Given the description of an element on the screen output the (x, y) to click on. 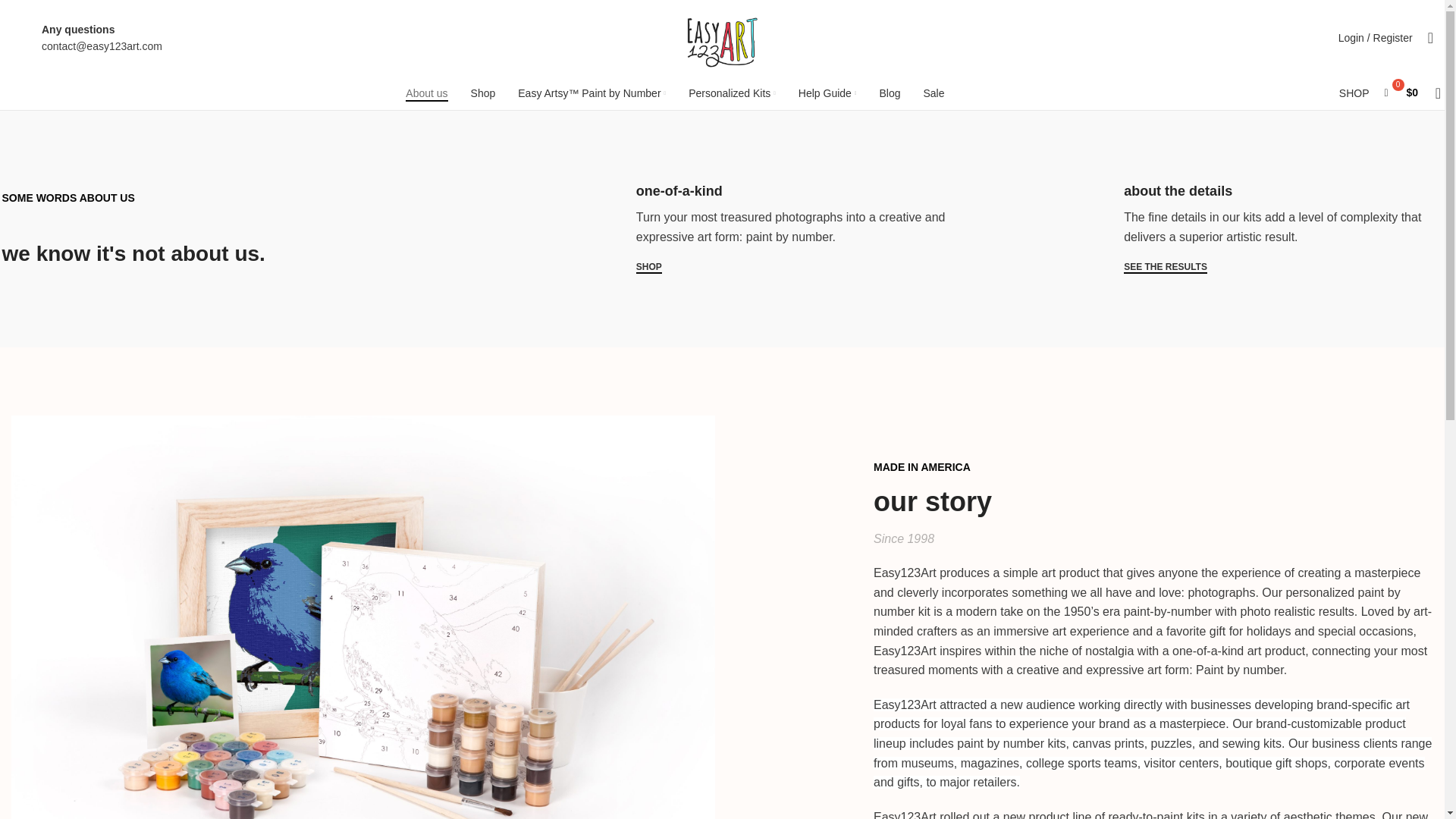
SHOP (649, 267)
we know it's not about us. (133, 253)
SHOP (1354, 92)
Log in (1286, 278)
SEE THE RESULTS (1165, 267)
Help Guide (827, 92)
About us (426, 92)
My account (1375, 37)
Personalized Kits (732, 92)
